Given the description of an element on the screen output the (x, y) to click on. 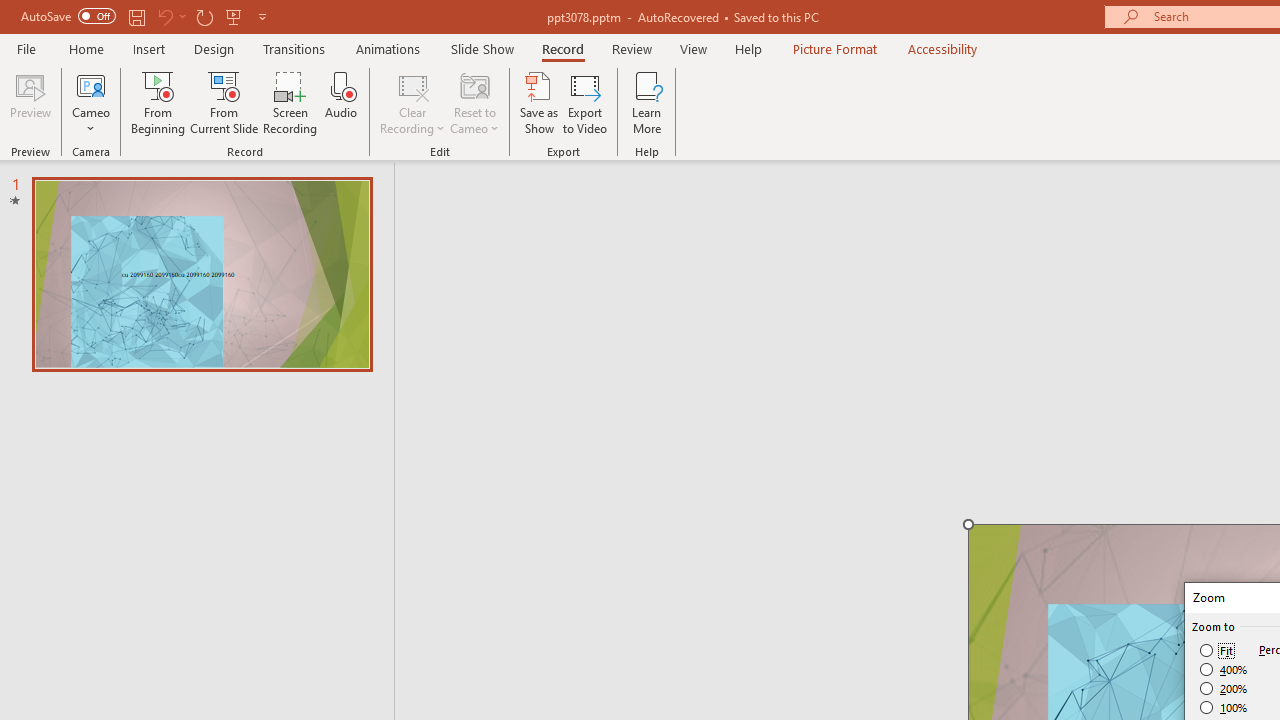
Clear Recording (412, 102)
Preview (30, 102)
Reset to Cameo (474, 102)
100% (1224, 707)
Fit (1217, 650)
Audio (341, 102)
Export to Video (585, 102)
From Current Slide... (224, 102)
